Given the description of an element on the screen output the (x, y) to click on. 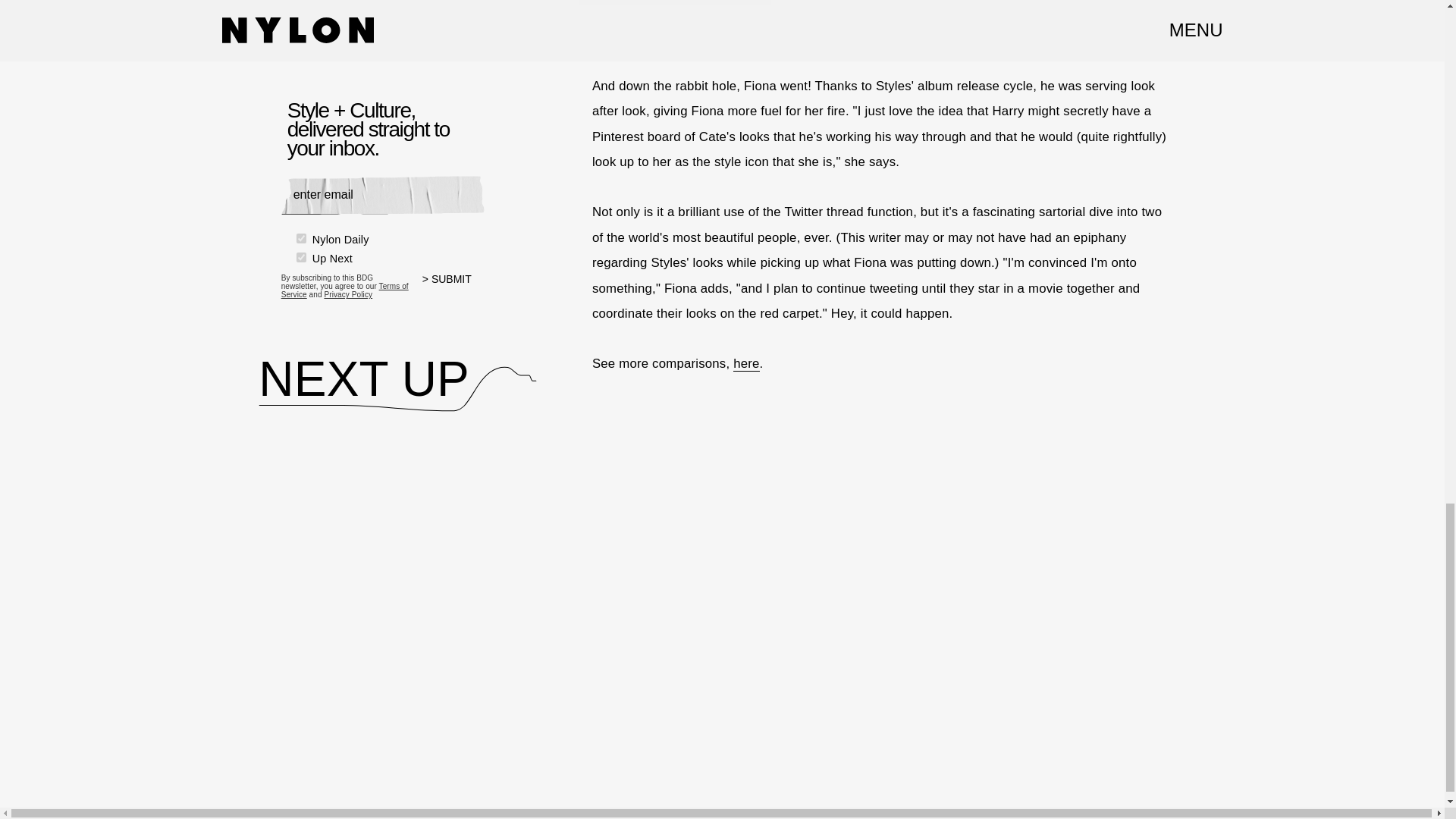
SUBMIT (453, 288)
Terms of Service (345, 289)
Privacy Policy (347, 294)
here (745, 363)
